Given the description of an element on the screen output the (x, y) to click on. 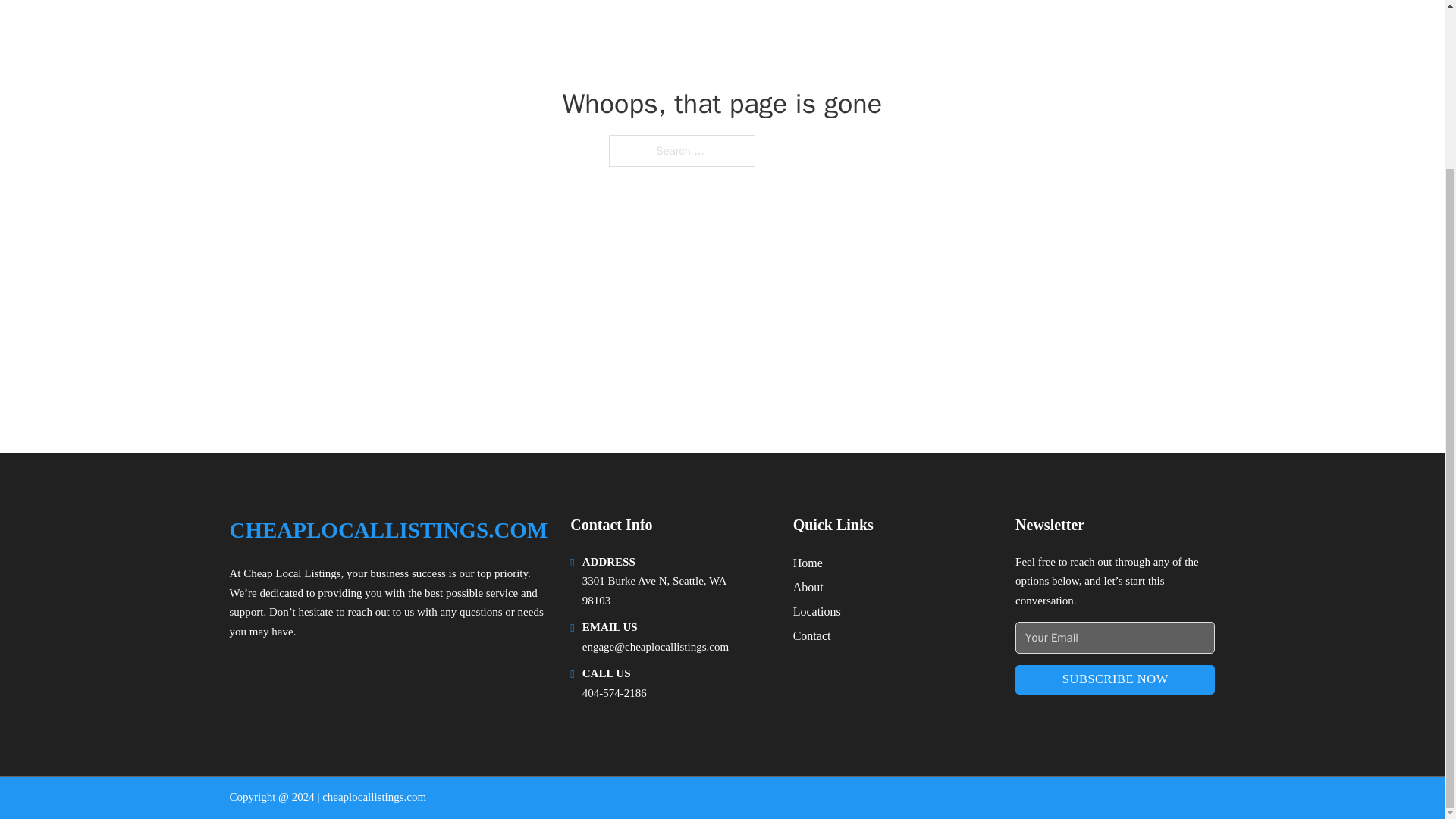
Locations (817, 611)
SUBSCRIBE NOW (1114, 679)
CHEAPLOCALLISTINGS.COM (387, 529)
Contact (812, 635)
Home (807, 562)
About (808, 587)
404-574-2186 (614, 693)
